Given the description of an element on the screen output the (x, y) to click on. 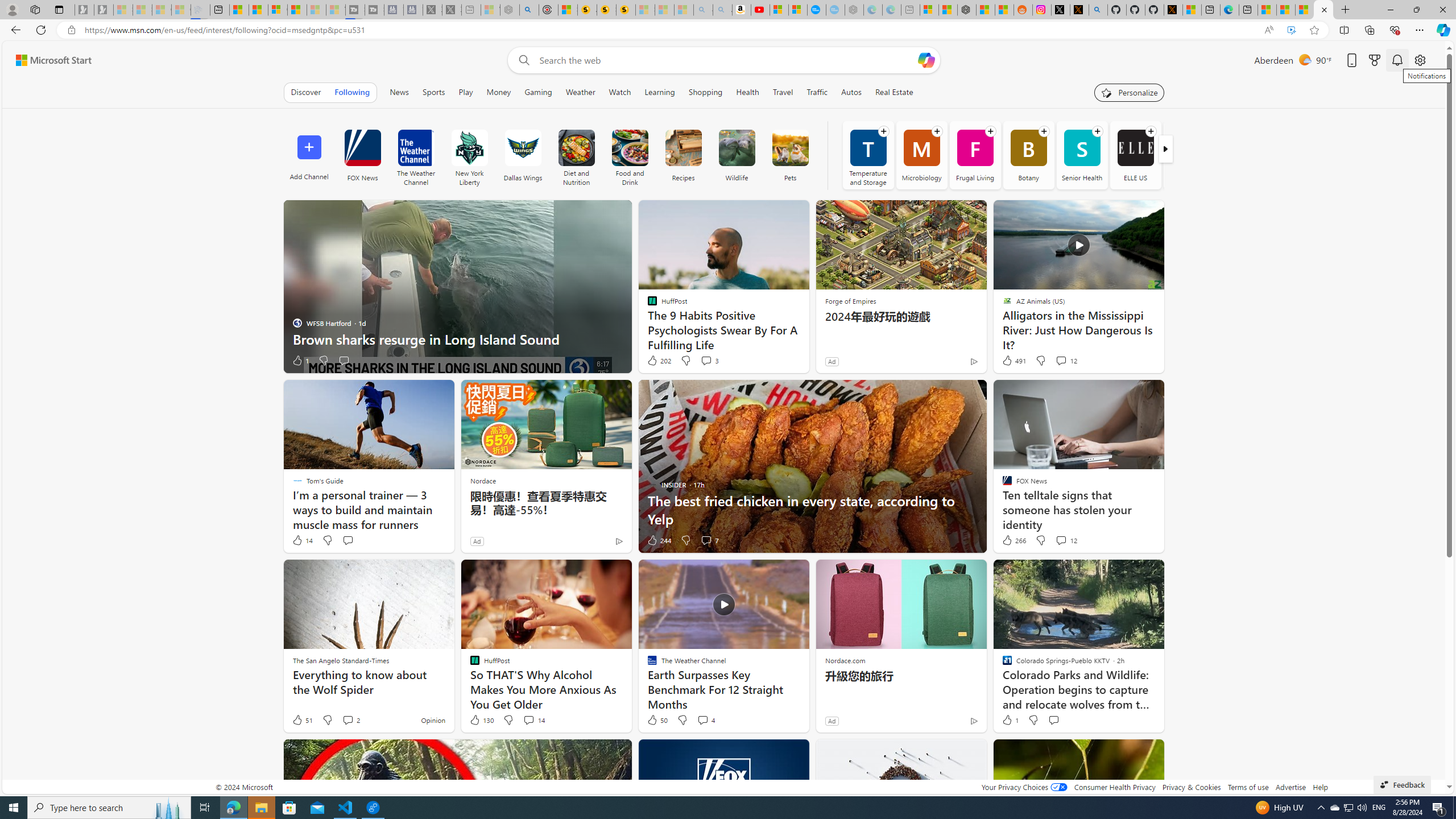
Privacy & Cookies (1191, 786)
Shanghai, China Weather trends | Microsoft Weather (1004, 9)
Wildlife - MSN - Sleeping (490, 9)
Hide this story (1129, 752)
Dallas Wings (522, 147)
Food and Drink (629, 155)
ELLE US (1135, 147)
